Given the description of an element on the screen output the (x, y) to click on. 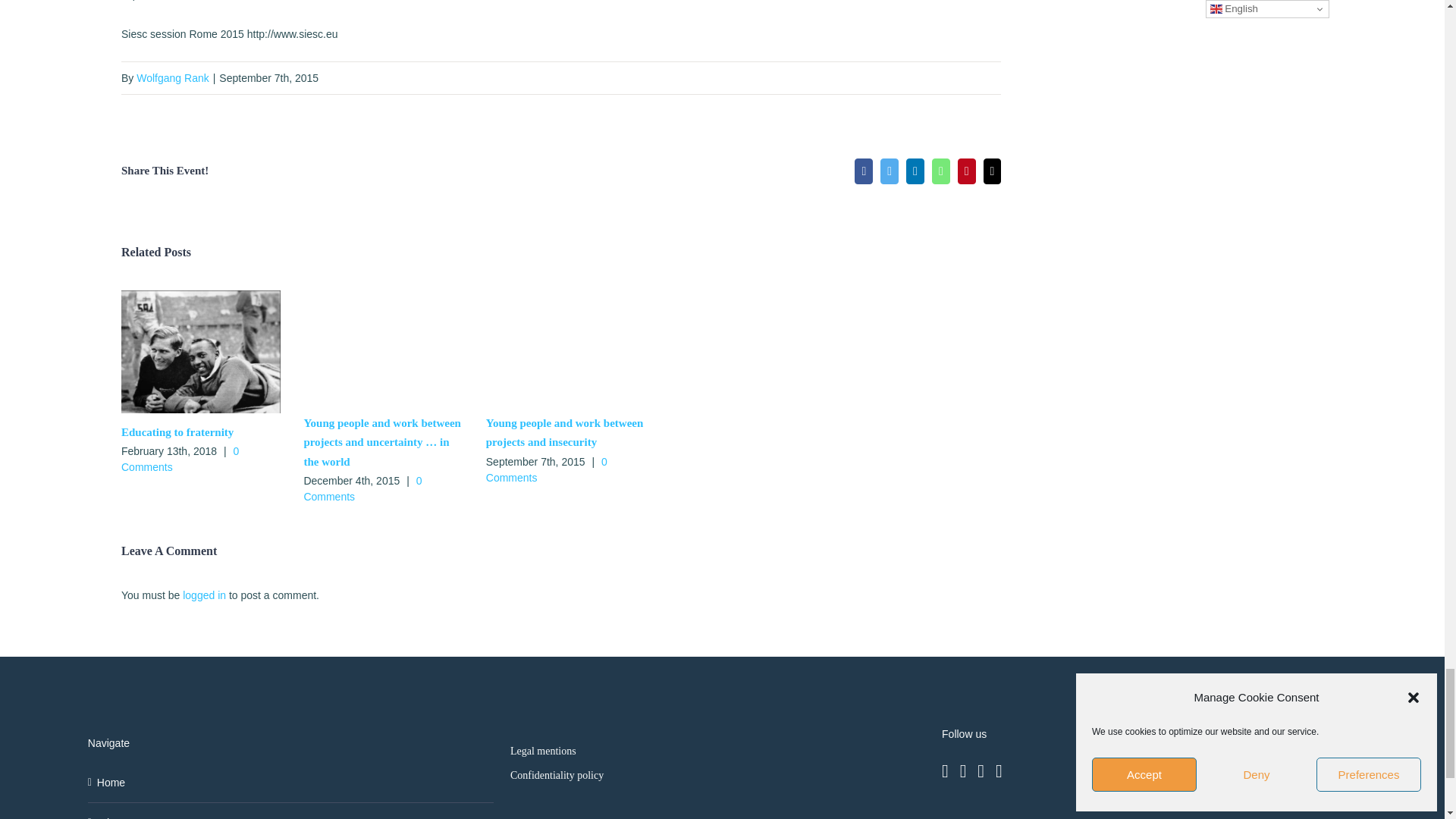
Educating to fraternity (176, 431)
Posts by Wolfgang Rank (172, 78)
Young people and work between projects and insecurity (564, 431)
